Given the description of an element on the screen output the (x, y) to click on. 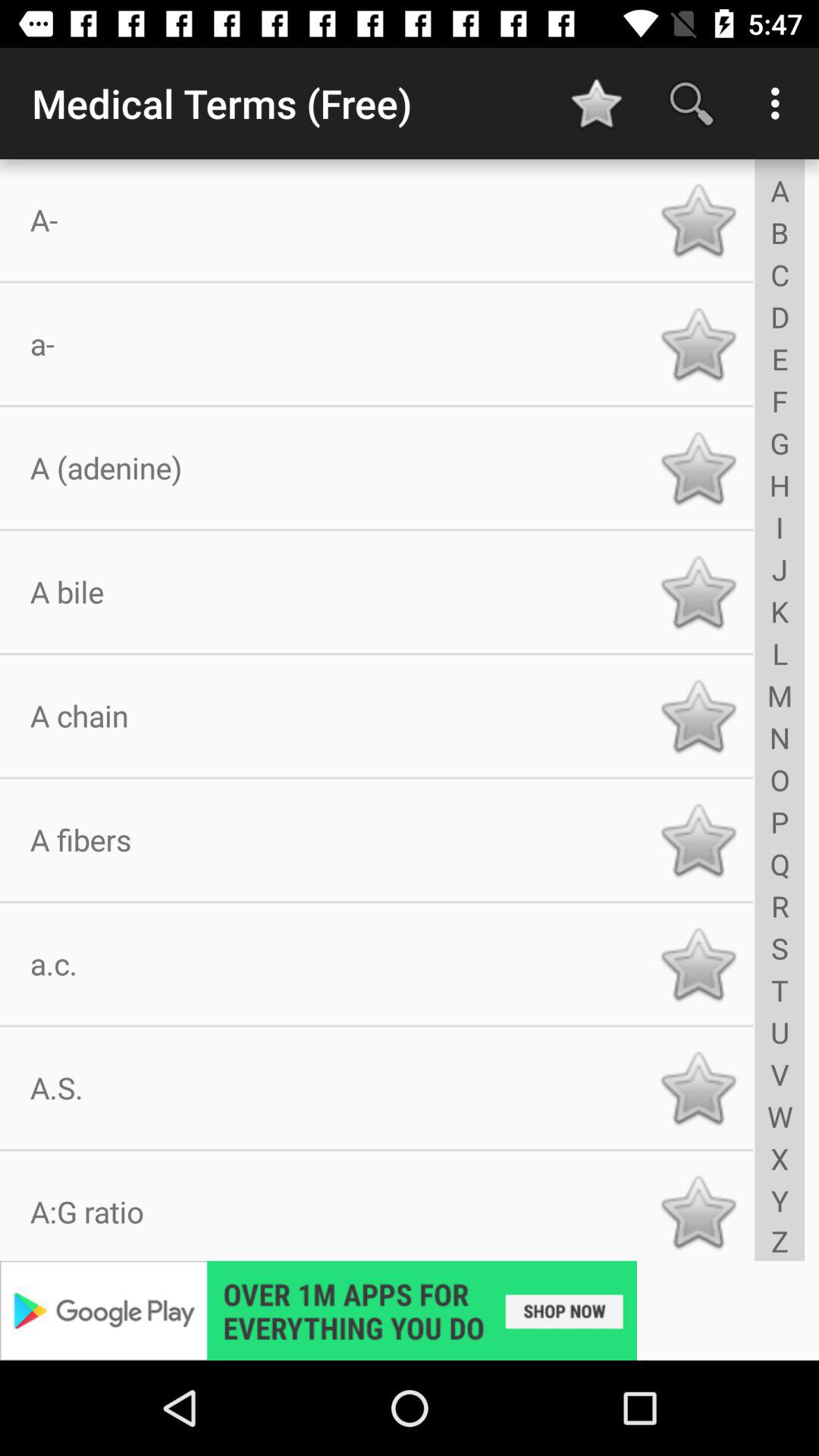
chose as favorite (697, 468)
